Given the description of an element on the screen output the (x, y) to click on. 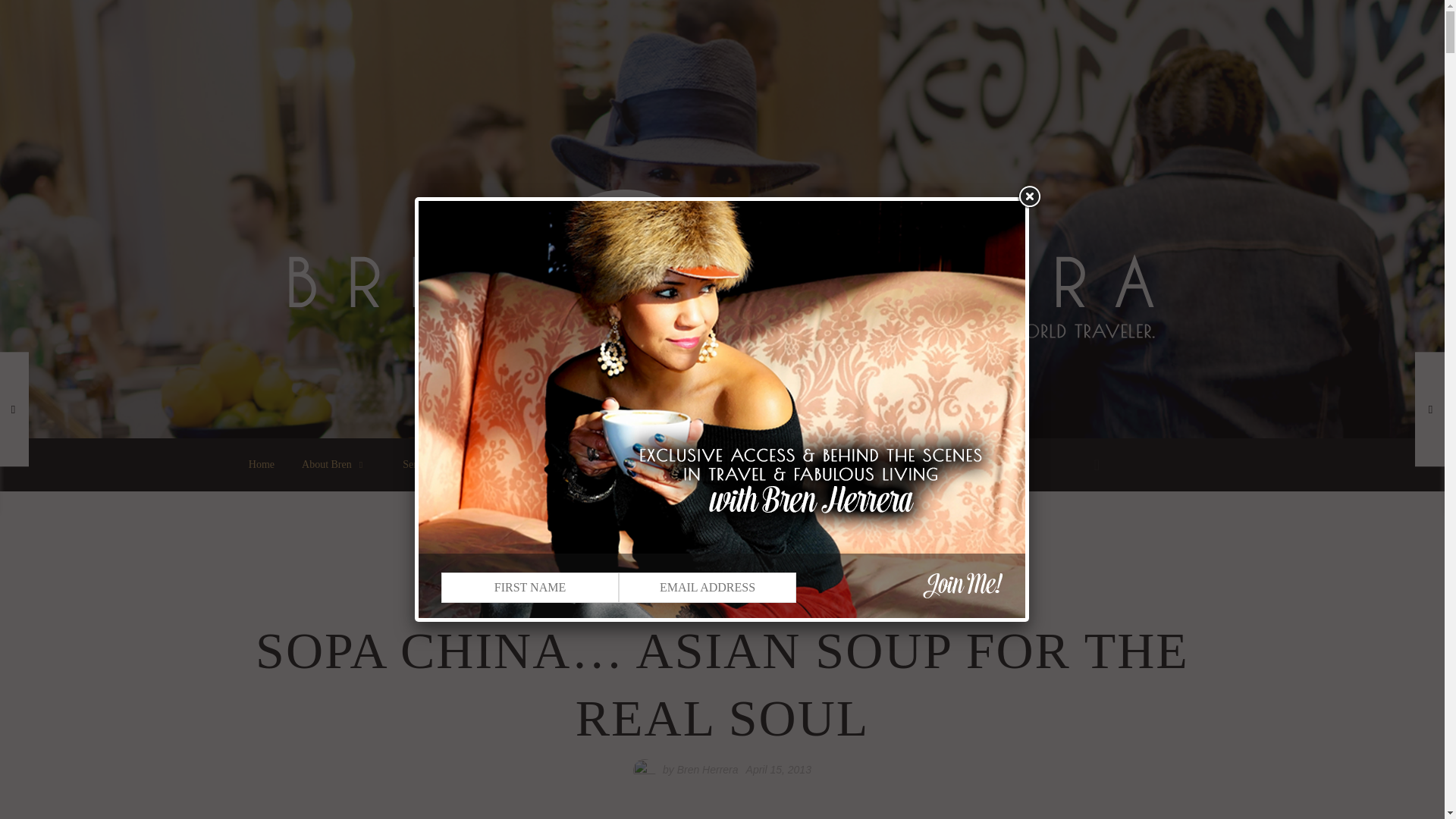
Food (565, 464)
Cookbook (493, 464)
Home (261, 464)
Travel (640, 464)
Lifestyle (725, 464)
Culture (810, 464)
Close (1028, 196)
About Bren (338, 464)
Serve DC (423, 464)
